Given the description of an element on the screen output the (x, y) to click on. 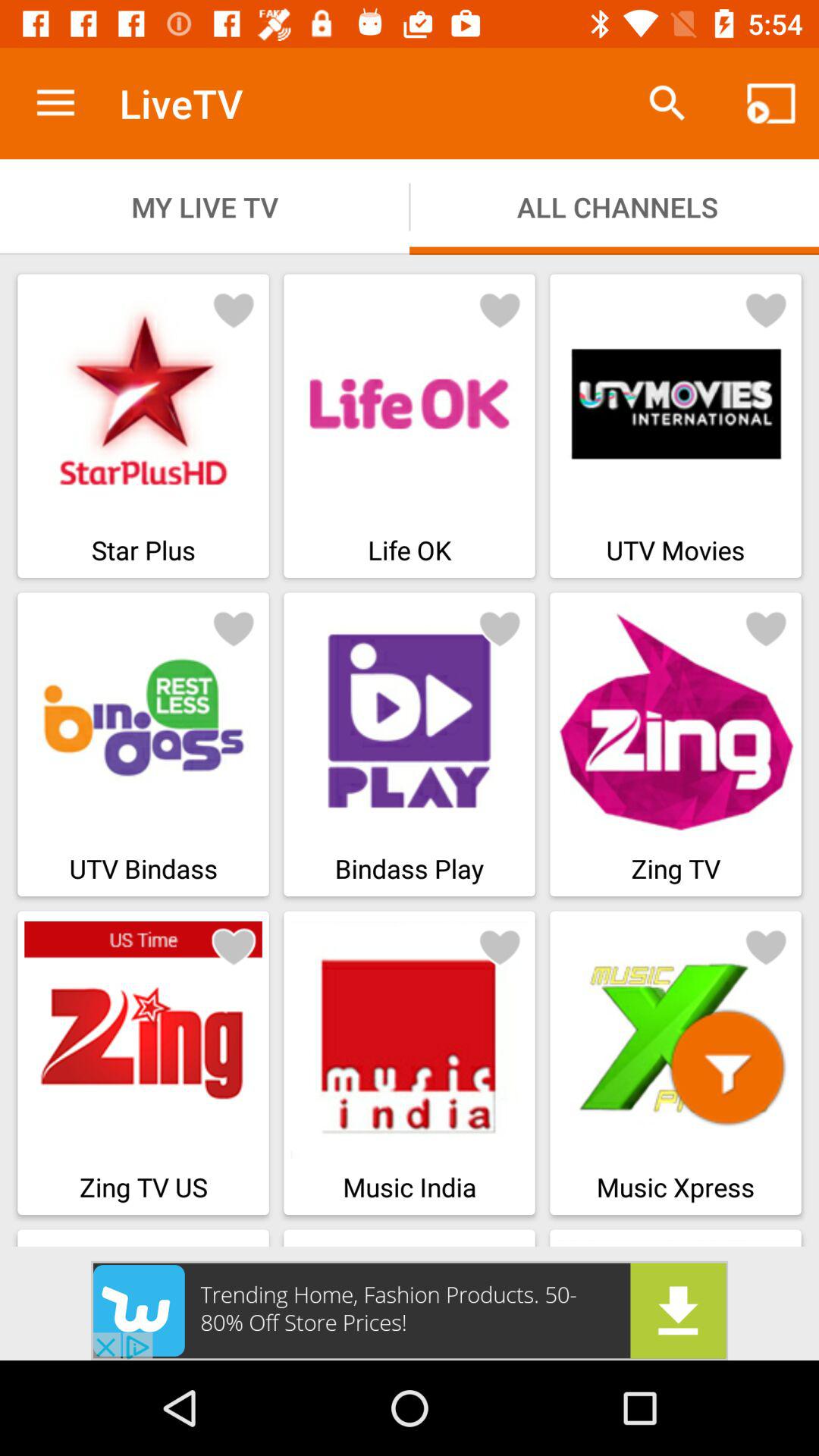
like button (766, 309)
